Given the description of an element on the screen output the (x, y) to click on. 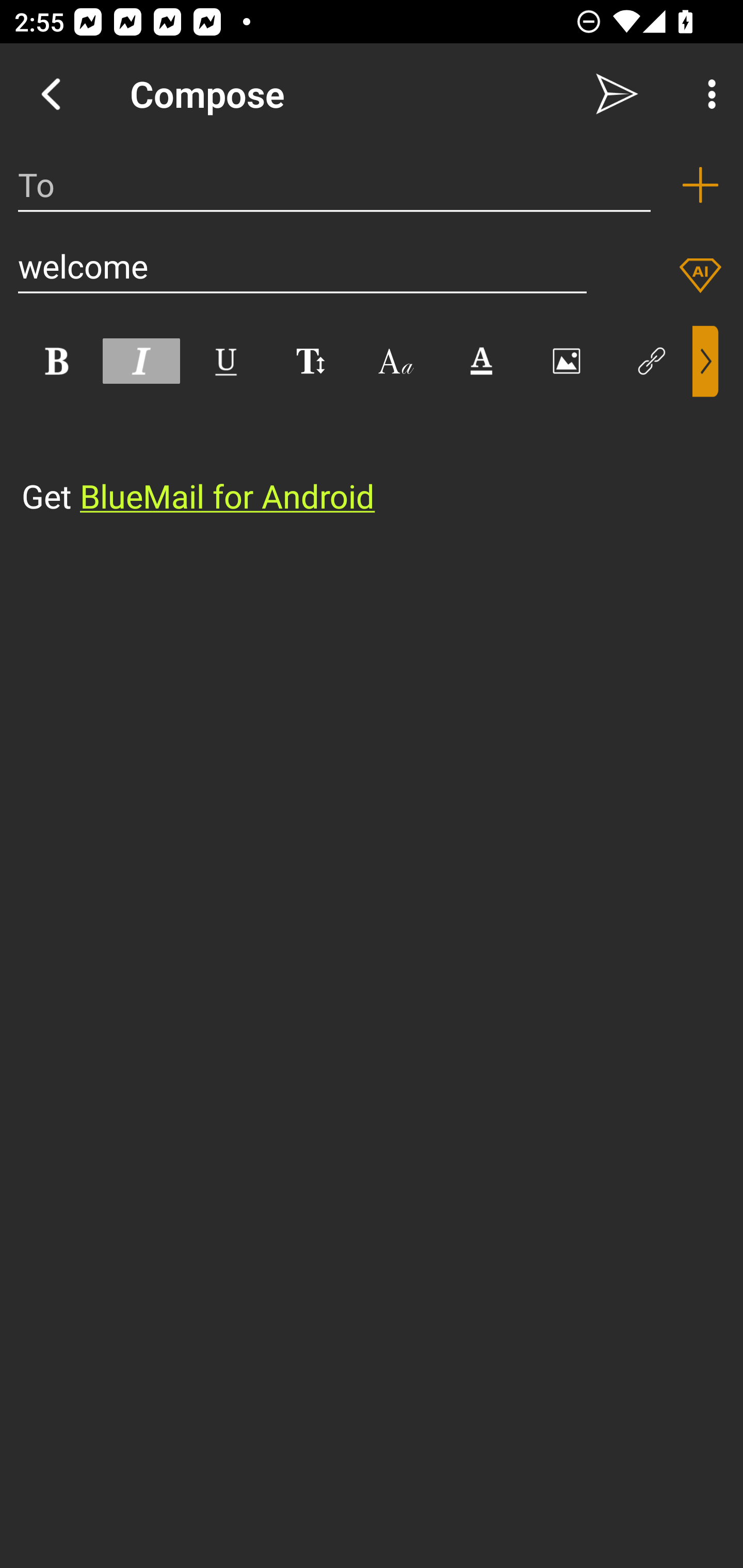
Navigate up (50, 93)
Send (616, 93)
More Options (706, 93)
To (334, 184)
Add recipient (To) (699, 184)
welcome (302, 266)


⁣Get BlueMail for Android ​ (355, 457)
